Given the description of an element on the screen output the (x, y) to click on. 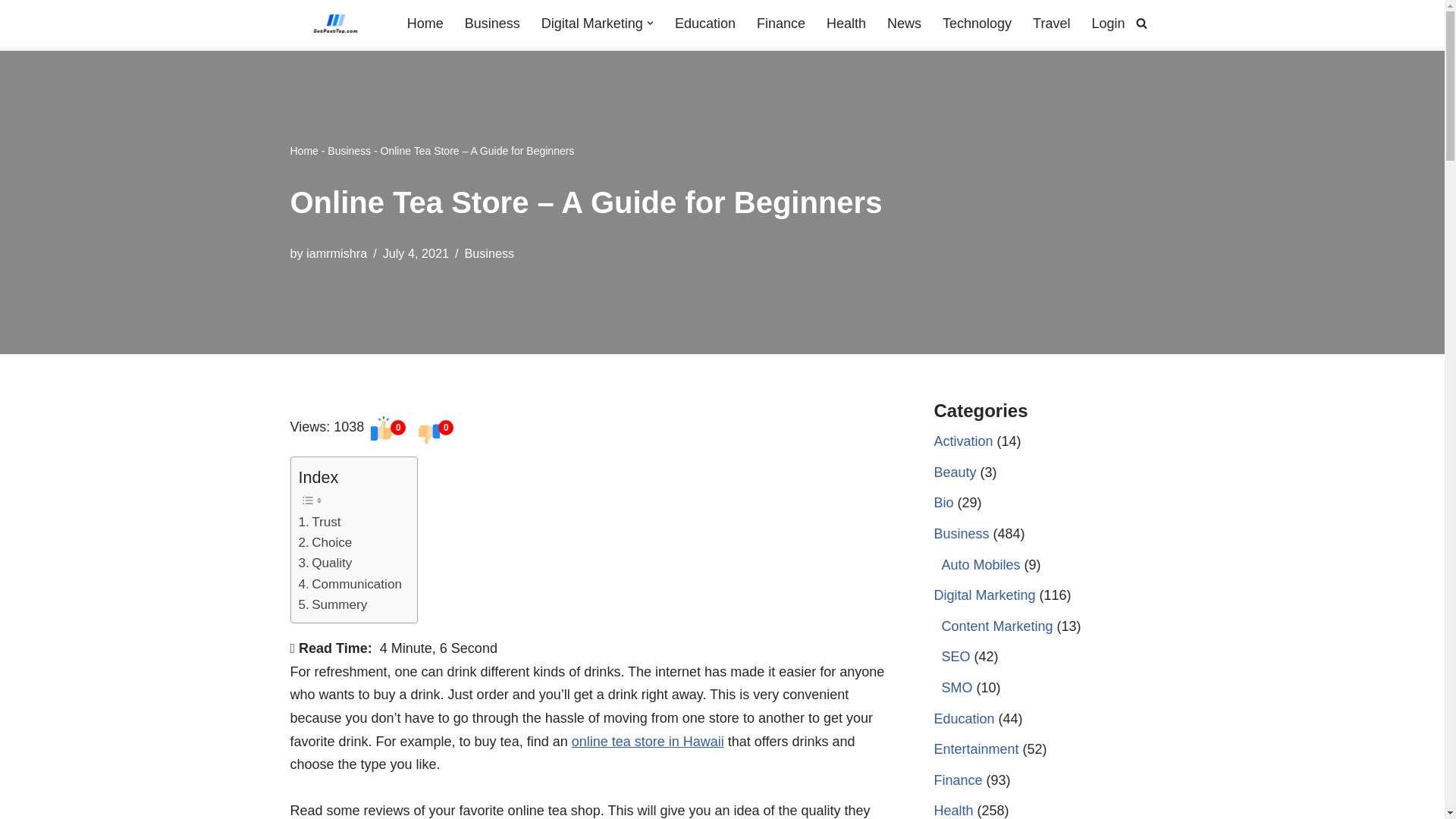
Choice (325, 542)
News (903, 23)
Communication (349, 584)
Home (303, 150)
Travel (1051, 23)
Login (1107, 23)
Trust (319, 521)
Posts by iamrmishra (335, 253)
Quality (325, 562)
Health (846, 23)
